Given the description of an element on the screen output the (x, y) to click on. 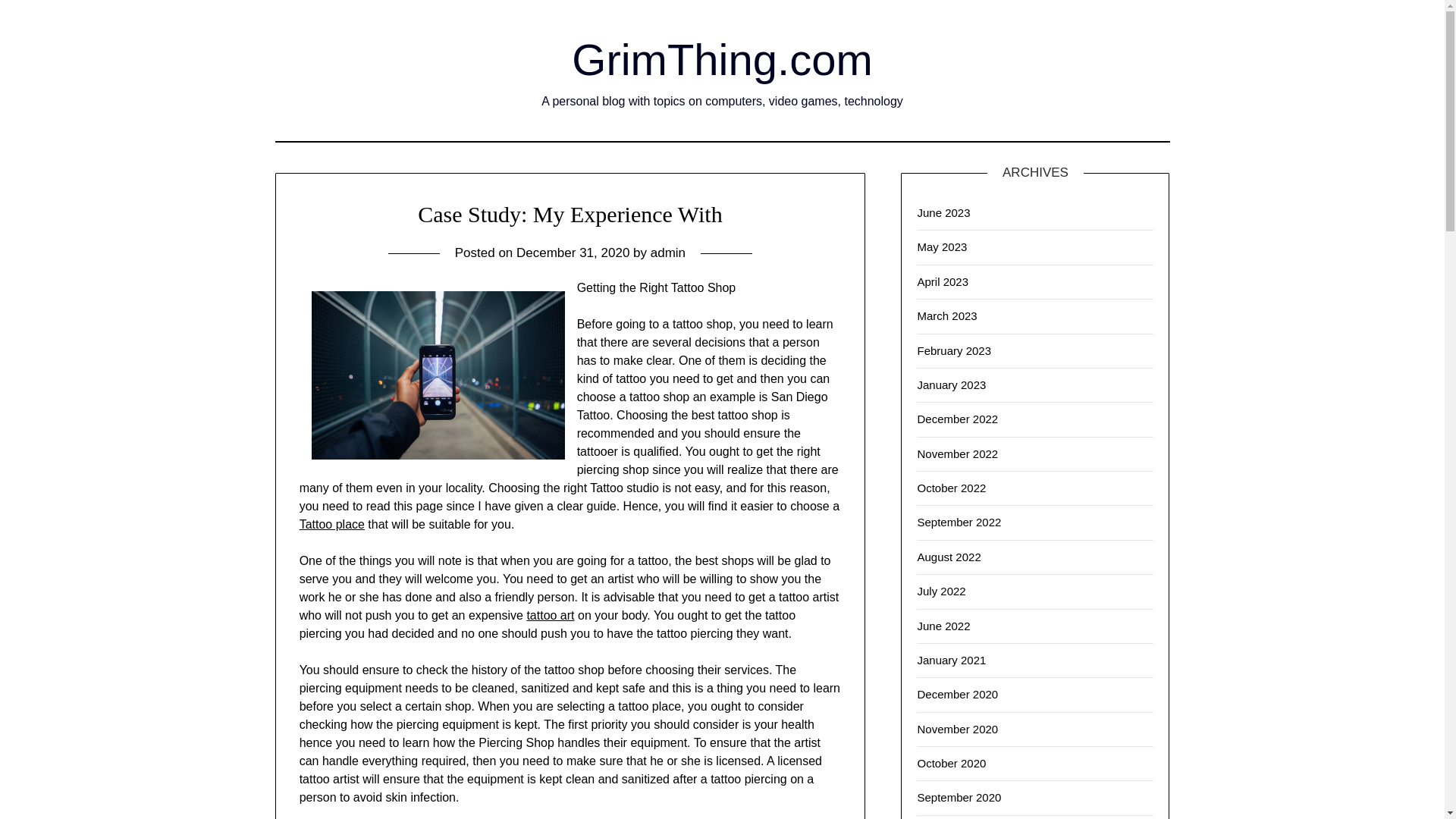
May 2023 (941, 246)
June 2022 (943, 625)
November 2022 (957, 453)
October 2022 (951, 487)
tattoo art (549, 615)
December 31, 2020 (572, 252)
August 2022 (948, 556)
December 2020 (957, 694)
September 2020 (959, 797)
January 2023 (951, 384)
February 2023 (954, 350)
October 2020 (951, 762)
admin (667, 252)
January 2021 (951, 659)
March 2023 (946, 315)
